Given the description of an element on the screen output the (x, y) to click on. 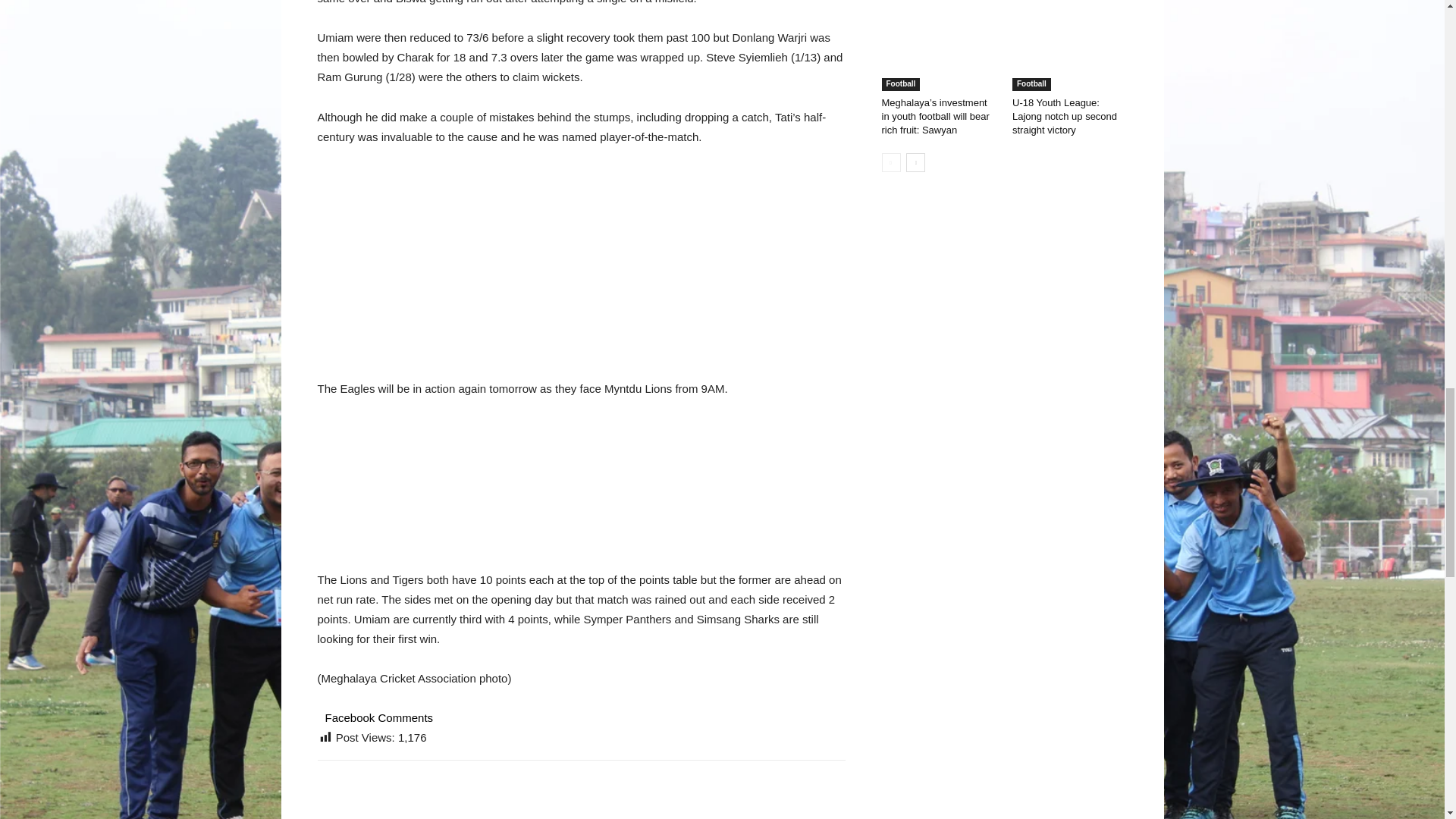
Advertisement (580, 494)
bottomFacebookLike (430, 784)
Advertisement (580, 273)
